Given the description of an element on the screen output the (x, y) to click on. 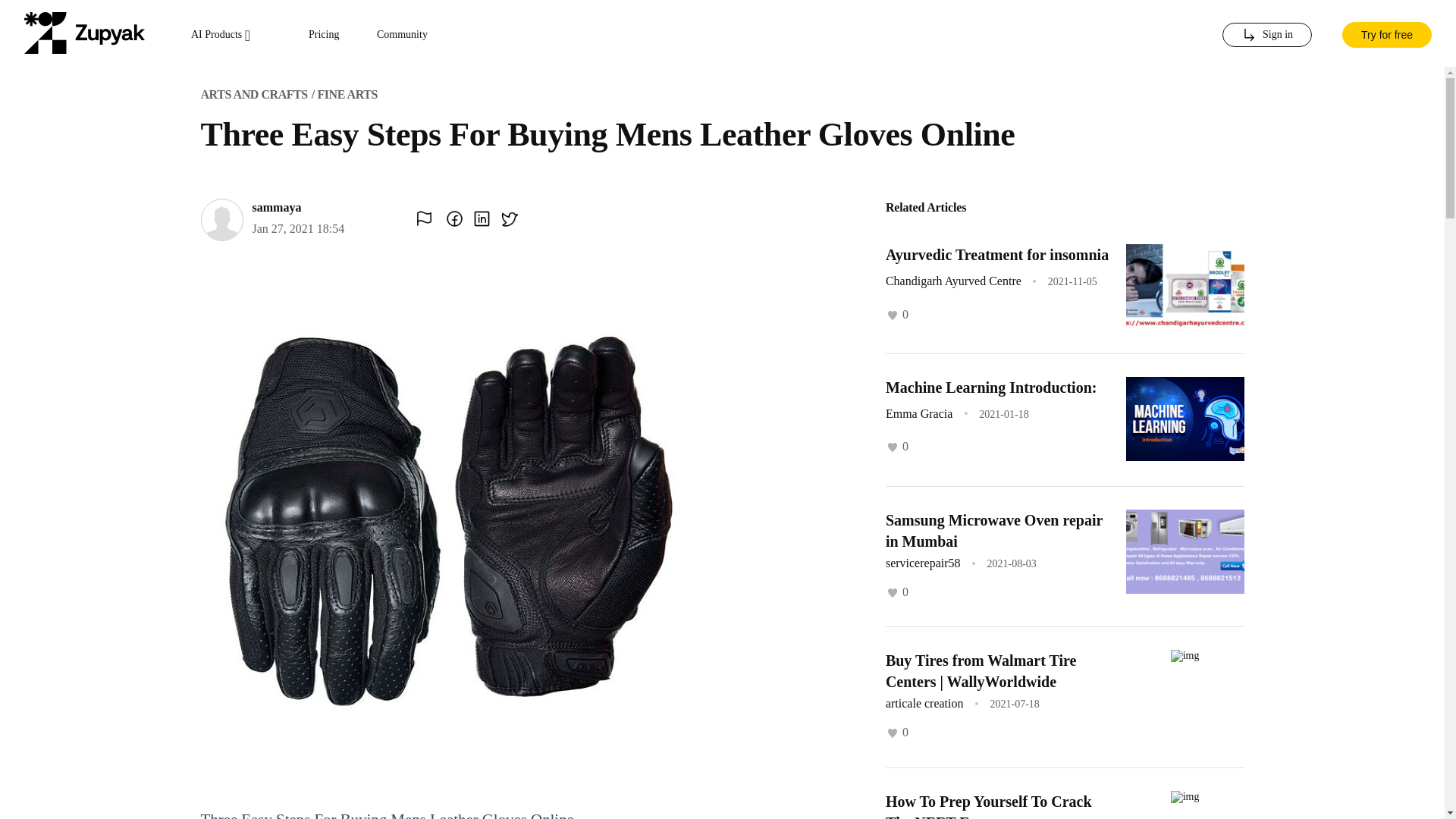
Ayurvedic Treatment for insomnia (996, 254)
Community (402, 34)
Pricing (323, 34)
Try for free (1386, 33)
ARTS AND CRAFTS (253, 93)
Machine Learning Introduction: (991, 387)
Ayurvedic Treatment for insomnia (996, 254)
How To Prep Yourself To Crack The NEET Exams (988, 806)
Samsung Microwave Oven repair in Mumbai (993, 530)
FINE ARTS (347, 93)
 Sign in (1267, 34)
Machine Learning Introduction: (991, 387)
